Given the description of an element on the screen output the (x, y) to click on. 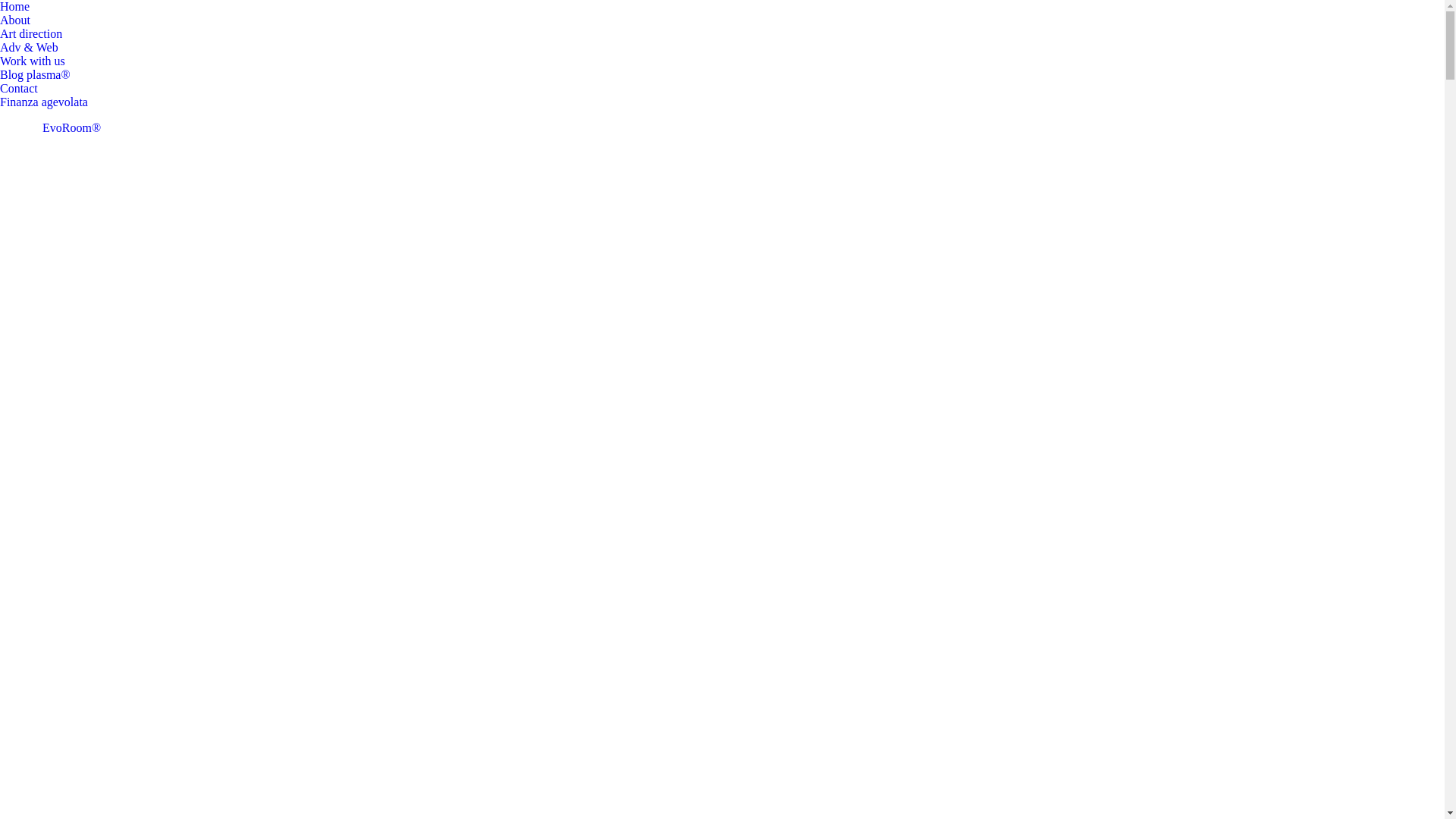
Home Element type: text (14, 6)
About Element type: text (15, 20)
Art direction Element type: text (31, 33)
Work with us Element type: text (32, 61)
Contact Element type: text (18, 88)
Adv & Web Element type: text (29, 47)
Finanza agevolata Element type: text (43, 102)
